Given the description of an element on the screen output the (x, y) to click on. 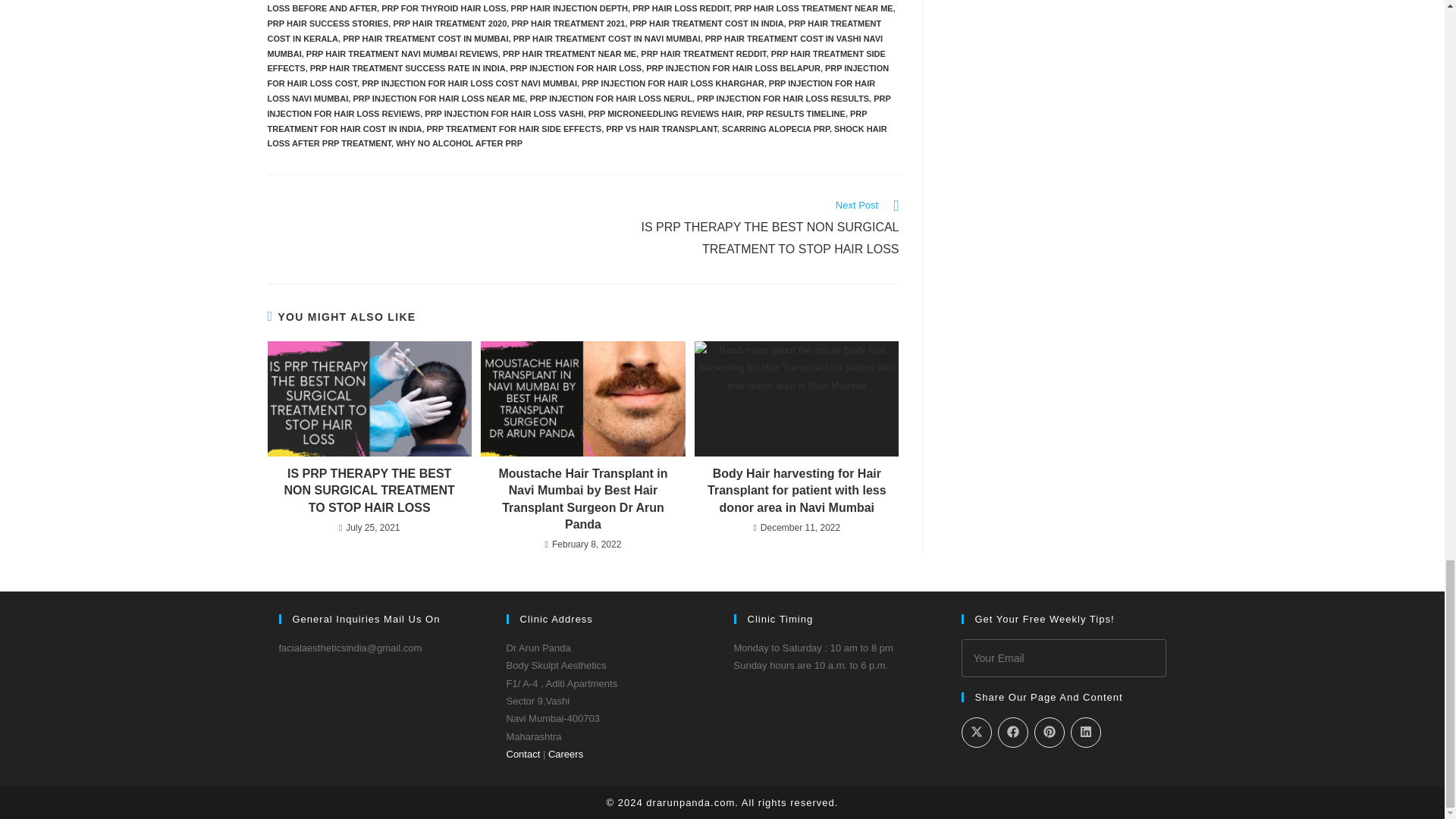
Share on Pinterest (1048, 732)
Share on X (975, 732)
Share on Facebook (1012, 732)
Share on LinkedIn (1085, 732)
